Given the description of an element on the screen output the (x, y) to click on. 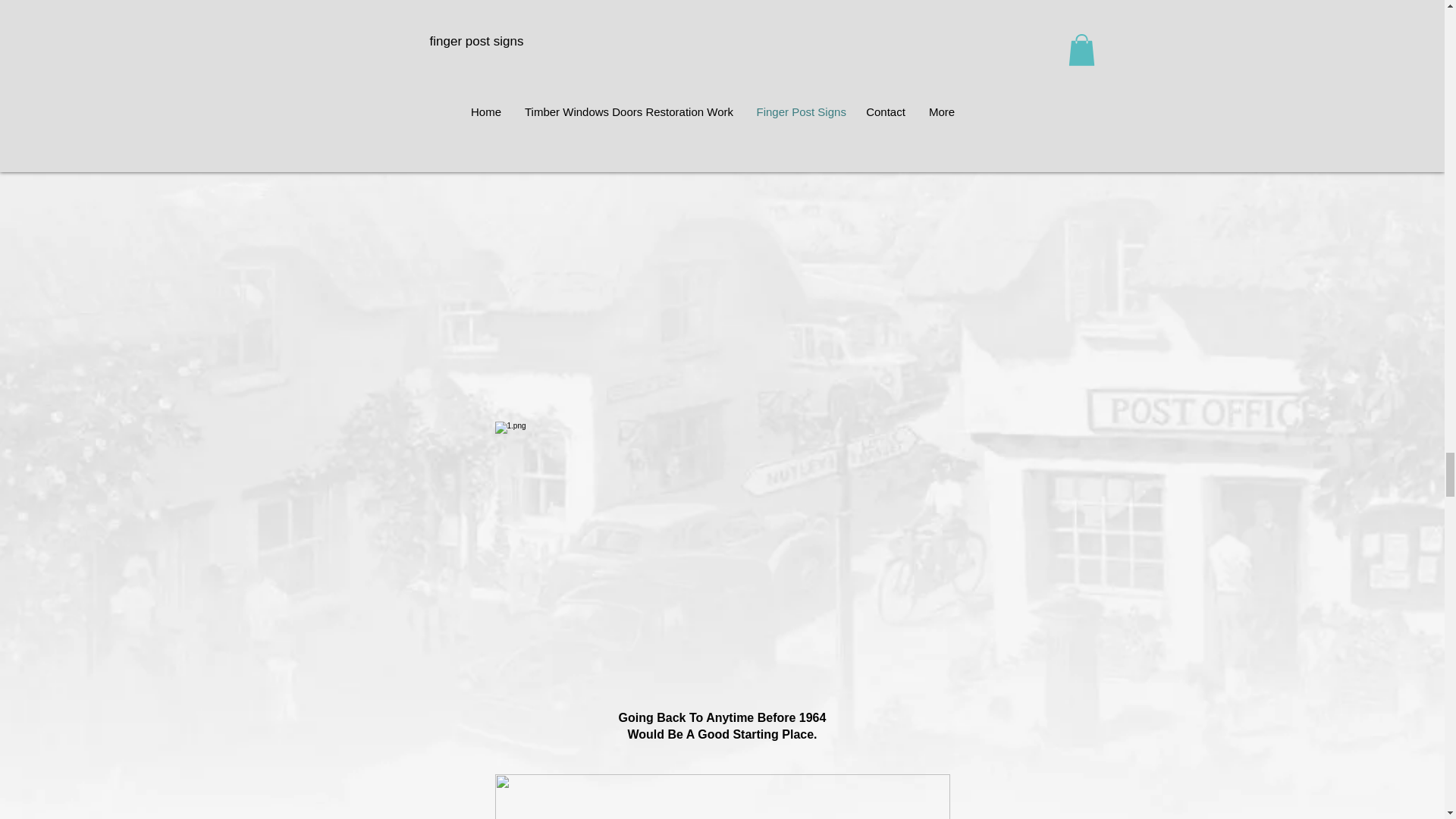
he Time Machine.jpg (722, 796)
